Given the description of an element on the screen output the (x, y) to click on. 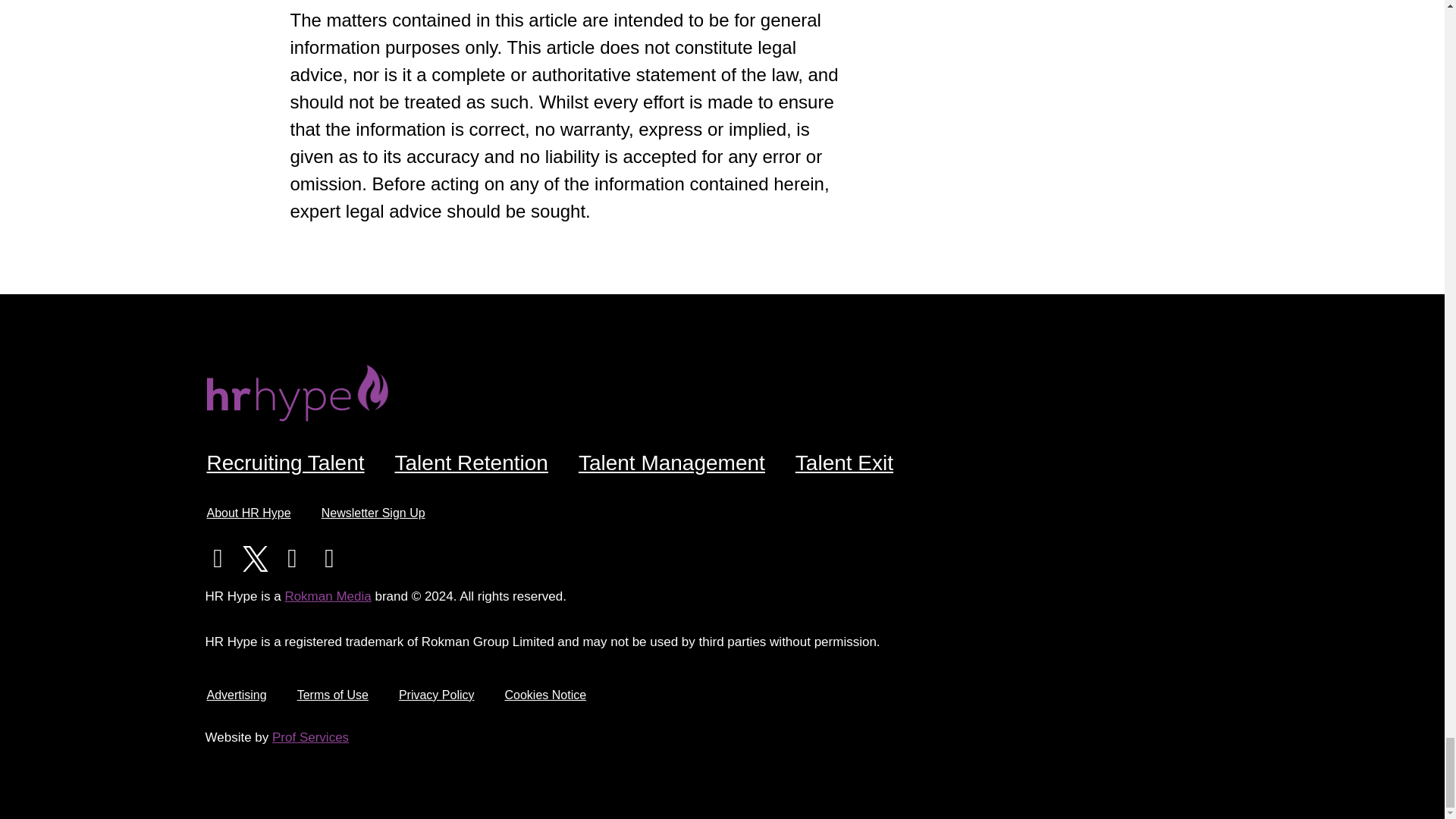
Talent Retention (471, 462)
Talent Management (671, 462)
Talent Exit (844, 462)
Recruiting Talent (284, 462)
